Given the description of an element on the screen output the (x, y) to click on. 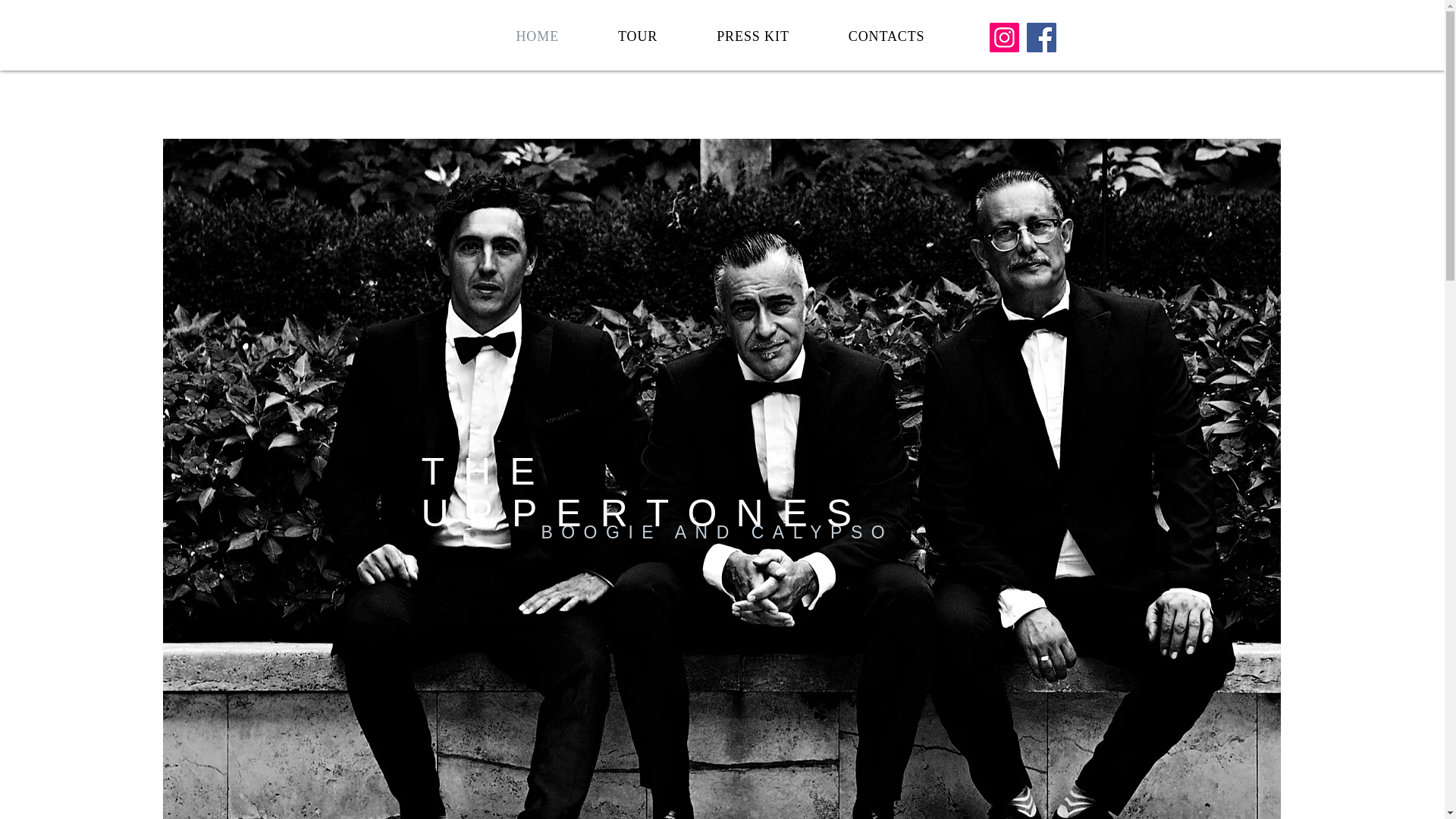
CONTACTS (887, 36)
PRESS KIT (752, 36)
HOME (537, 36)
TOUR (637, 36)
